Given the description of an element on the screen output the (x, y) to click on. 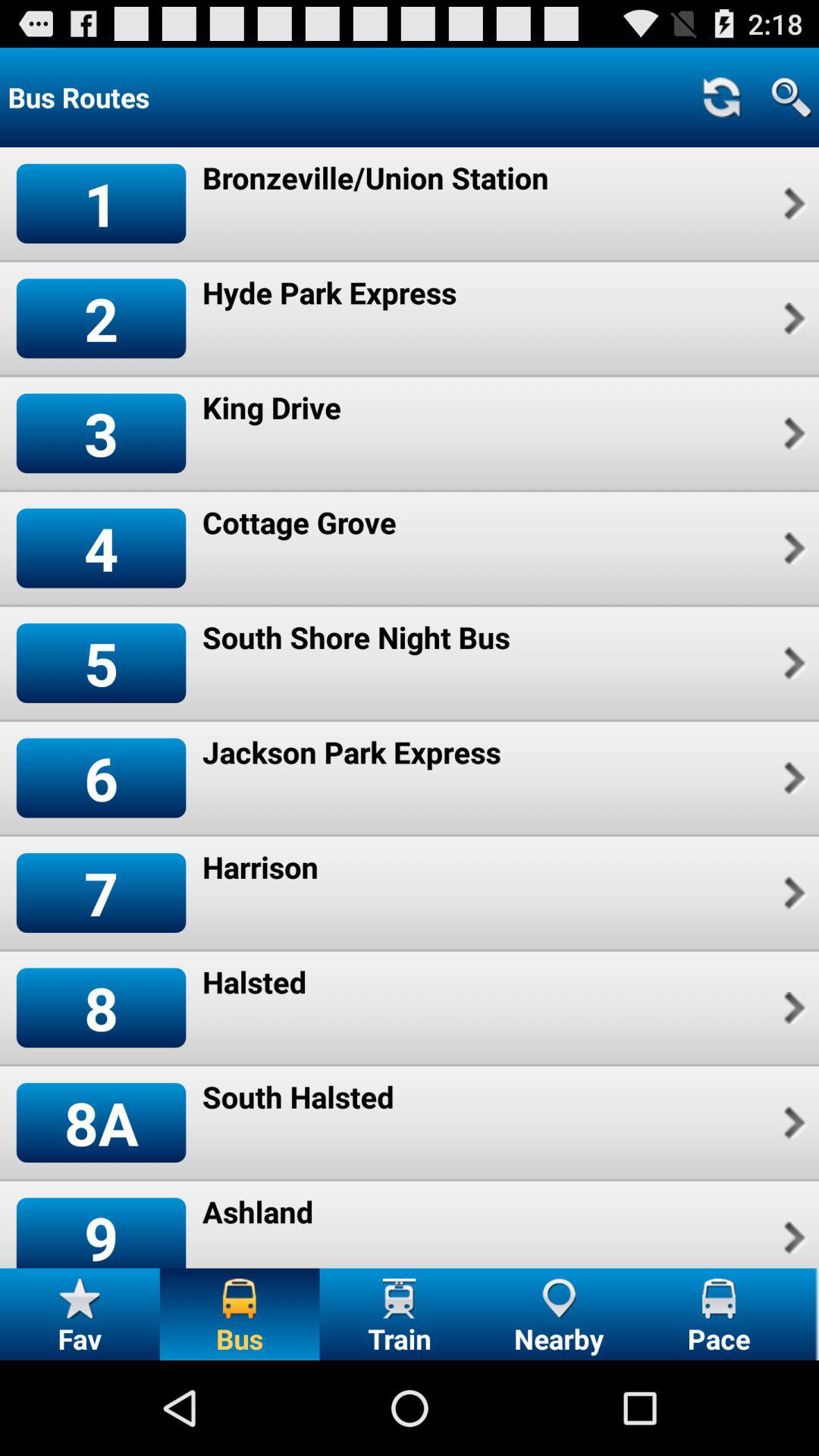
click the item next to the harrison item (100, 892)
